Given the description of an element on the screen output the (x, y) to click on. 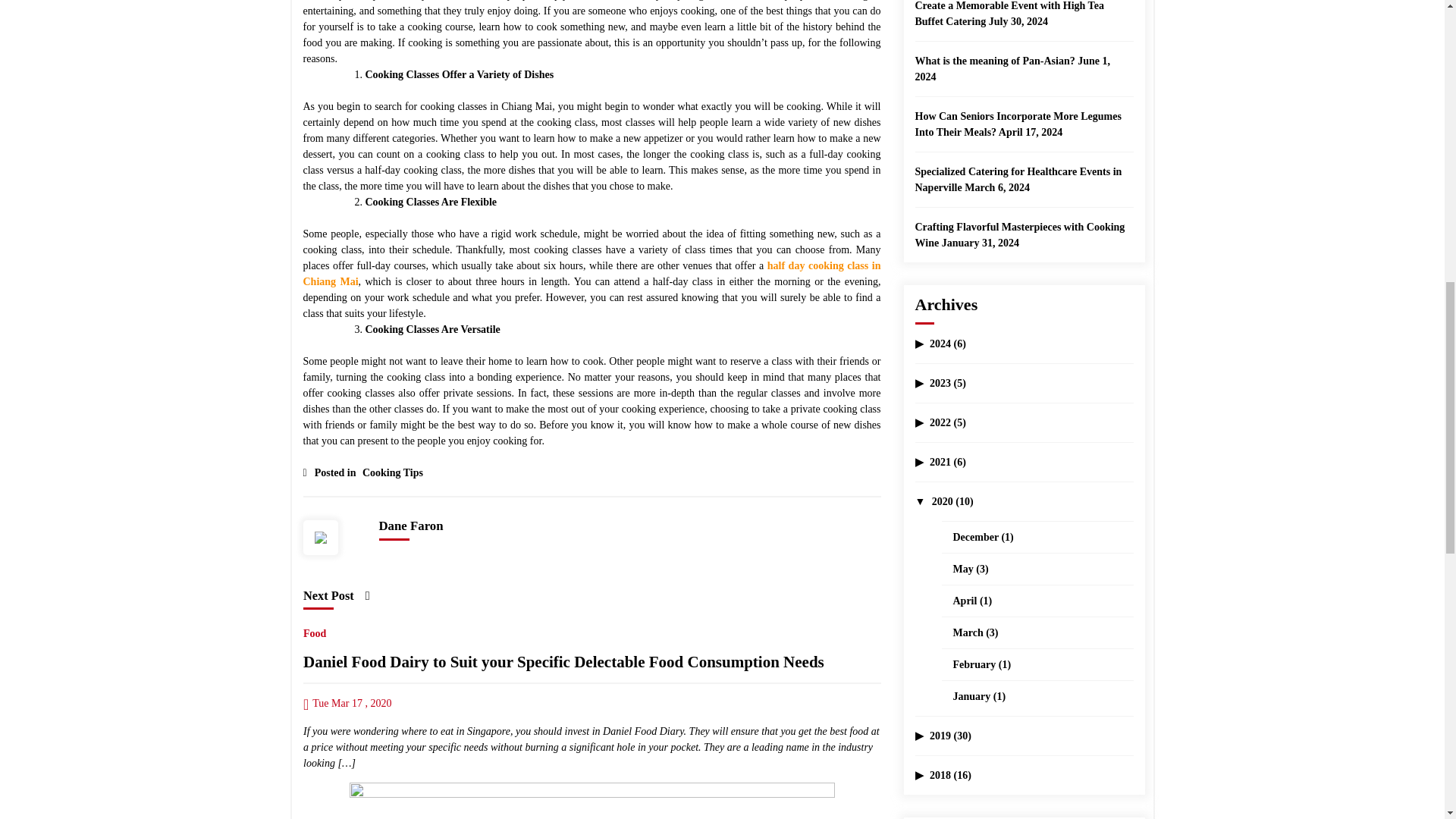
Food (314, 630)
Next Post (335, 595)
Cooking Tips (390, 469)
half day cooking class in Chiang Mai (591, 273)
